Given the description of an element on the screen output the (x, y) to click on. 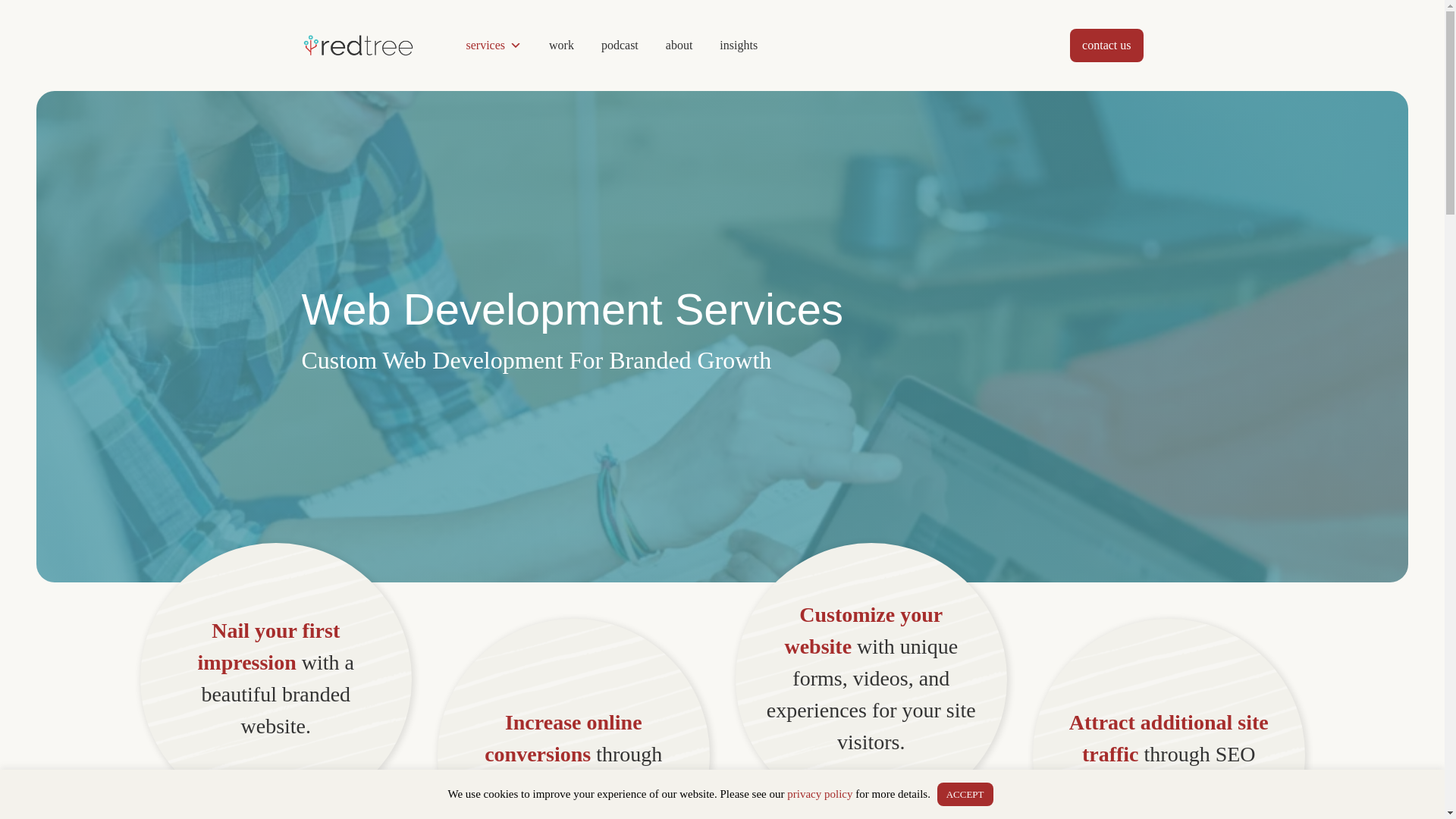
insights (738, 45)
podcast (620, 45)
services (493, 45)
work (560, 45)
contact us (1106, 45)
about (679, 45)
